Given the description of an element on the screen output the (x, y) to click on. 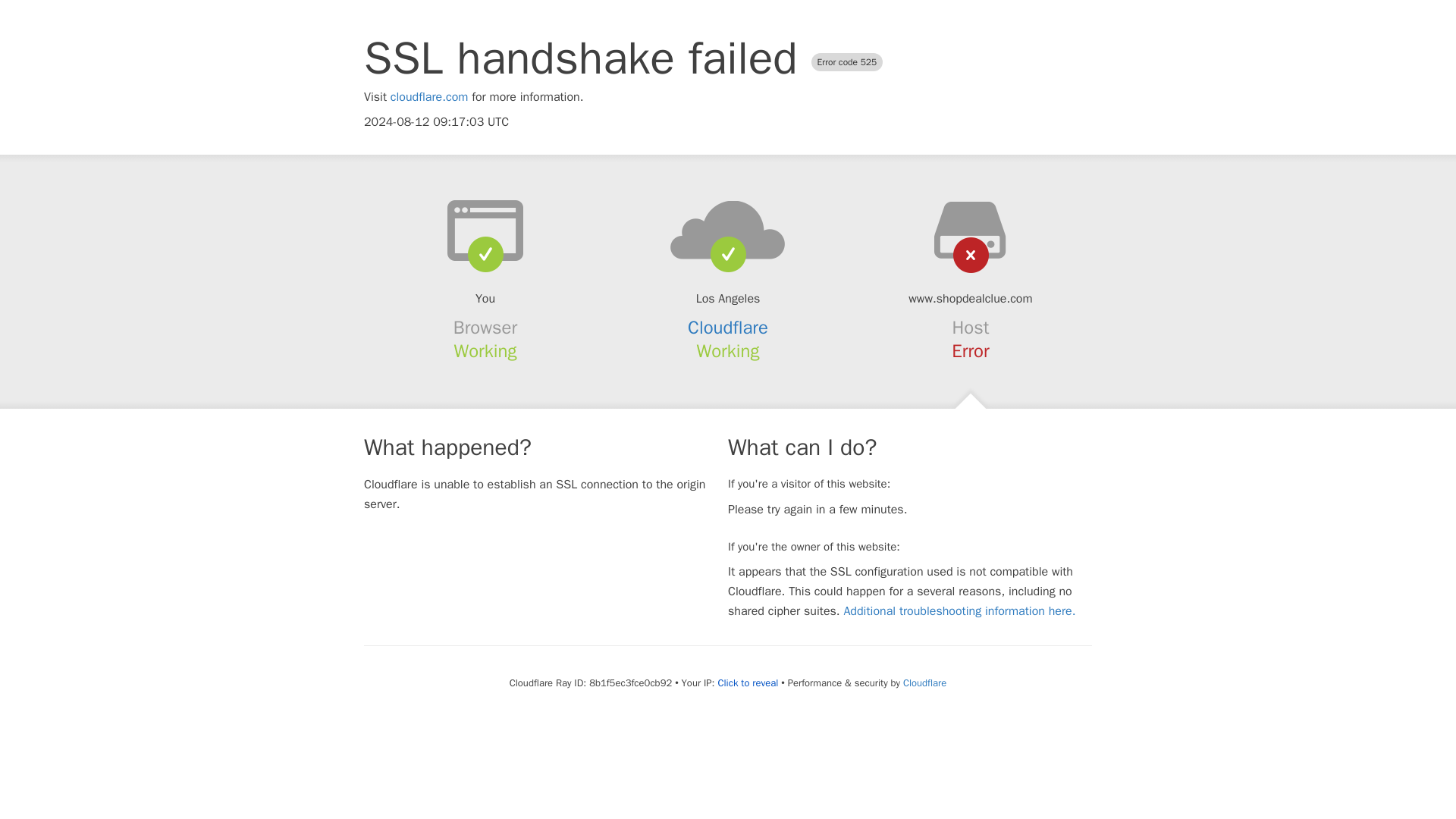
Cloudflare (924, 682)
Cloudflare (727, 327)
Click to reveal (747, 683)
cloudflare.com (429, 96)
Additional troubleshooting information here. (959, 611)
